Given the description of an element on the screen output the (x, y) to click on. 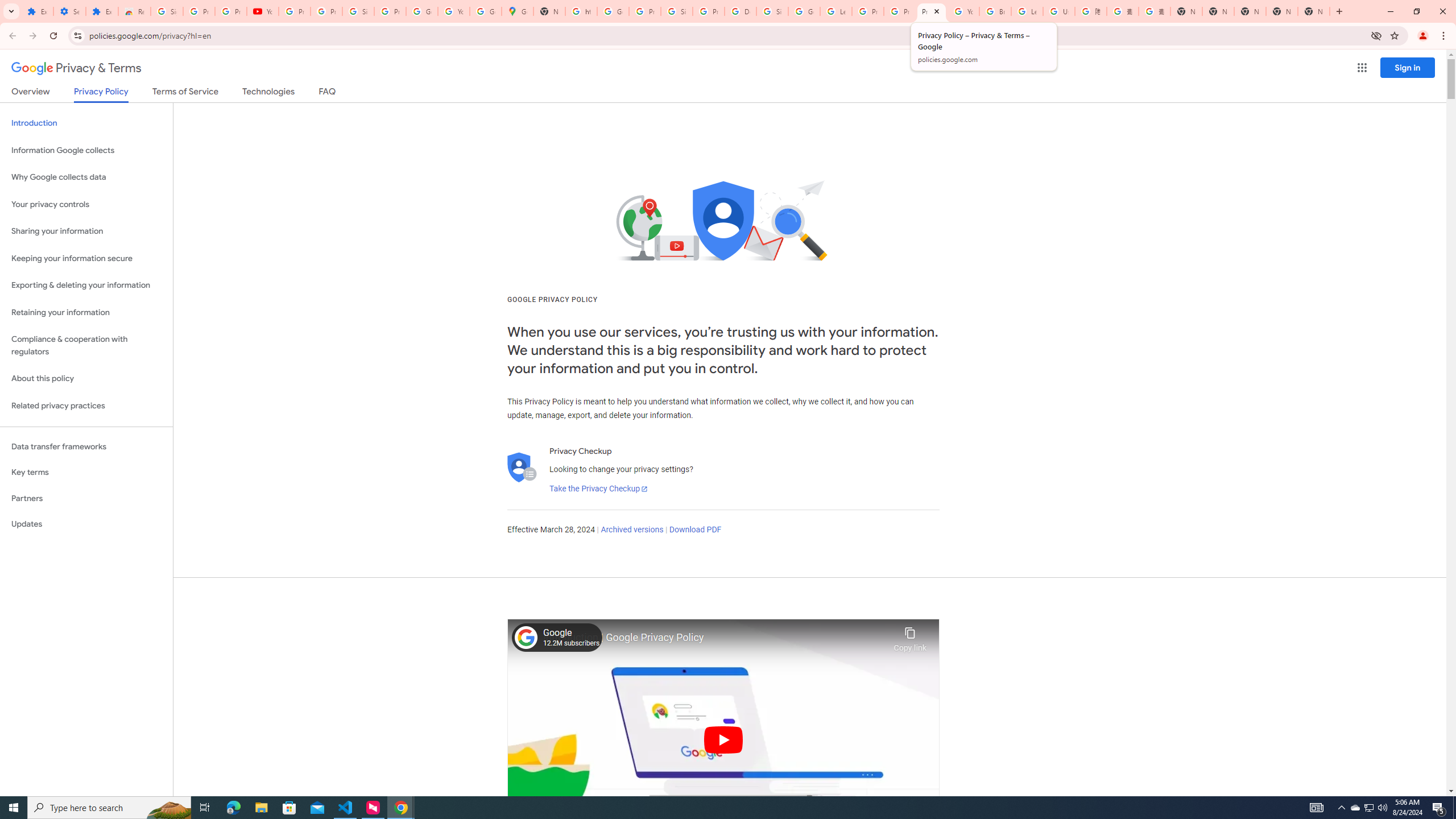
Play (723, 739)
Terms of Service (184, 93)
YouTube (262, 11)
Overview (30, 93)
About this policy (86, 379)
Browse Chrome as a guest - Computer - Google Chrome Help (995, 11)
Sign in - Google Accounts (358, 11)
